Given the description of an element on the screen output the (x, y) to click on. 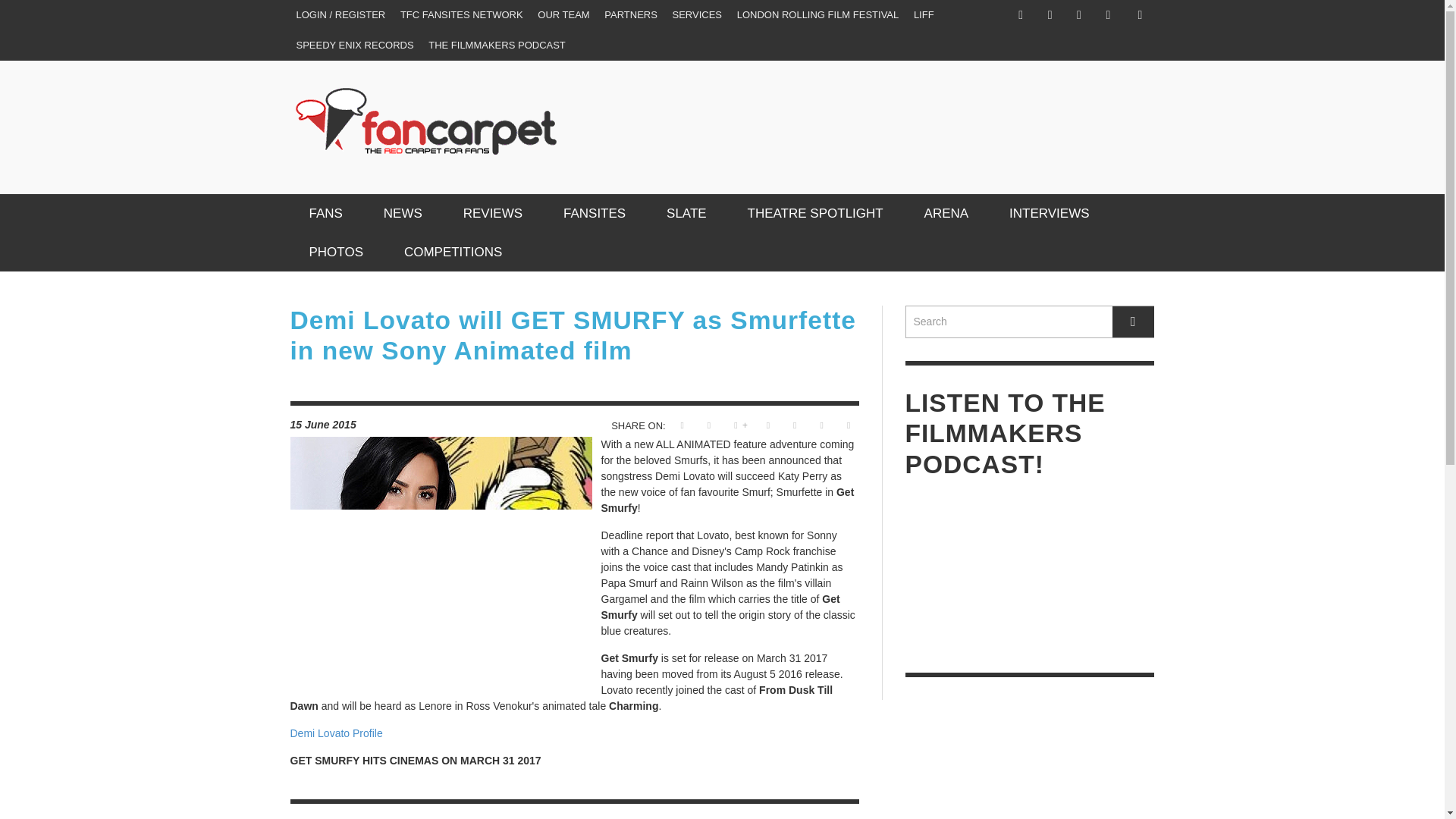
PARTNERS (630, 15)
OUR TEAM (563, 15)
TFC FANSITES NETWORK (461, 15)
SERVICES (697, 15)
LIFF (923, 15)
Twitter (1078, 15)
Youtube (1107, 15)
Search (1029, 321)
Facebook (1020, 15)
LONDON ROLLING FILM FESTIVAL (817, 15)
Instagram (1049, 15)
SPEEDY ENIX RECORDS (354, 45)
THE FILMMAKERS PODCAST (497, 45)
